Given the description of an element on the screen output the (x, y) to click on. 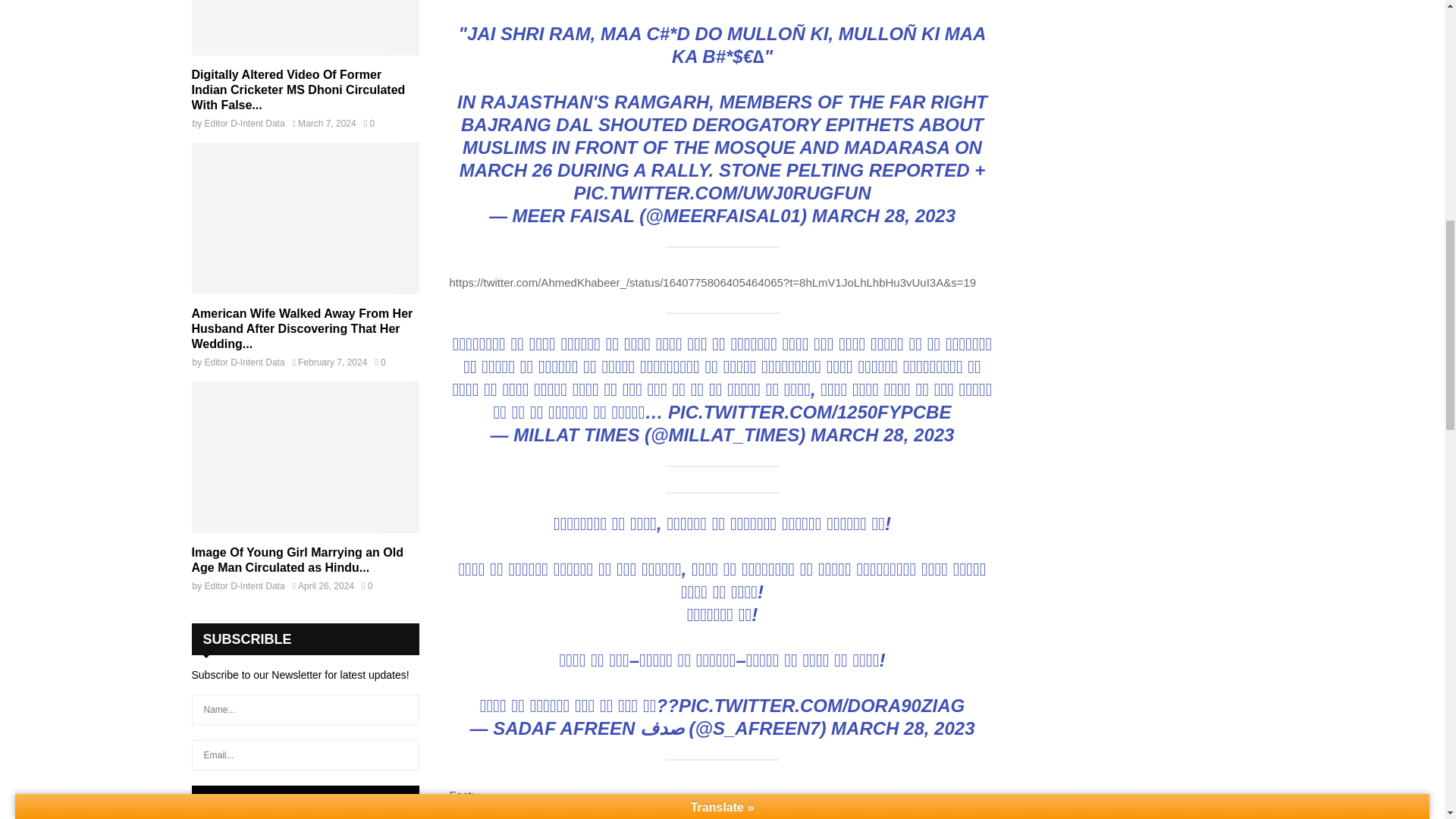
MARCH 28, 2023 (883, 215)
Subscribe (304, 799)
MARCH 28, 2023 (902, 728)
MARCH 28, 2023 (881, 435)
